Given the description of an element on the screen output the (x, y) to click on. 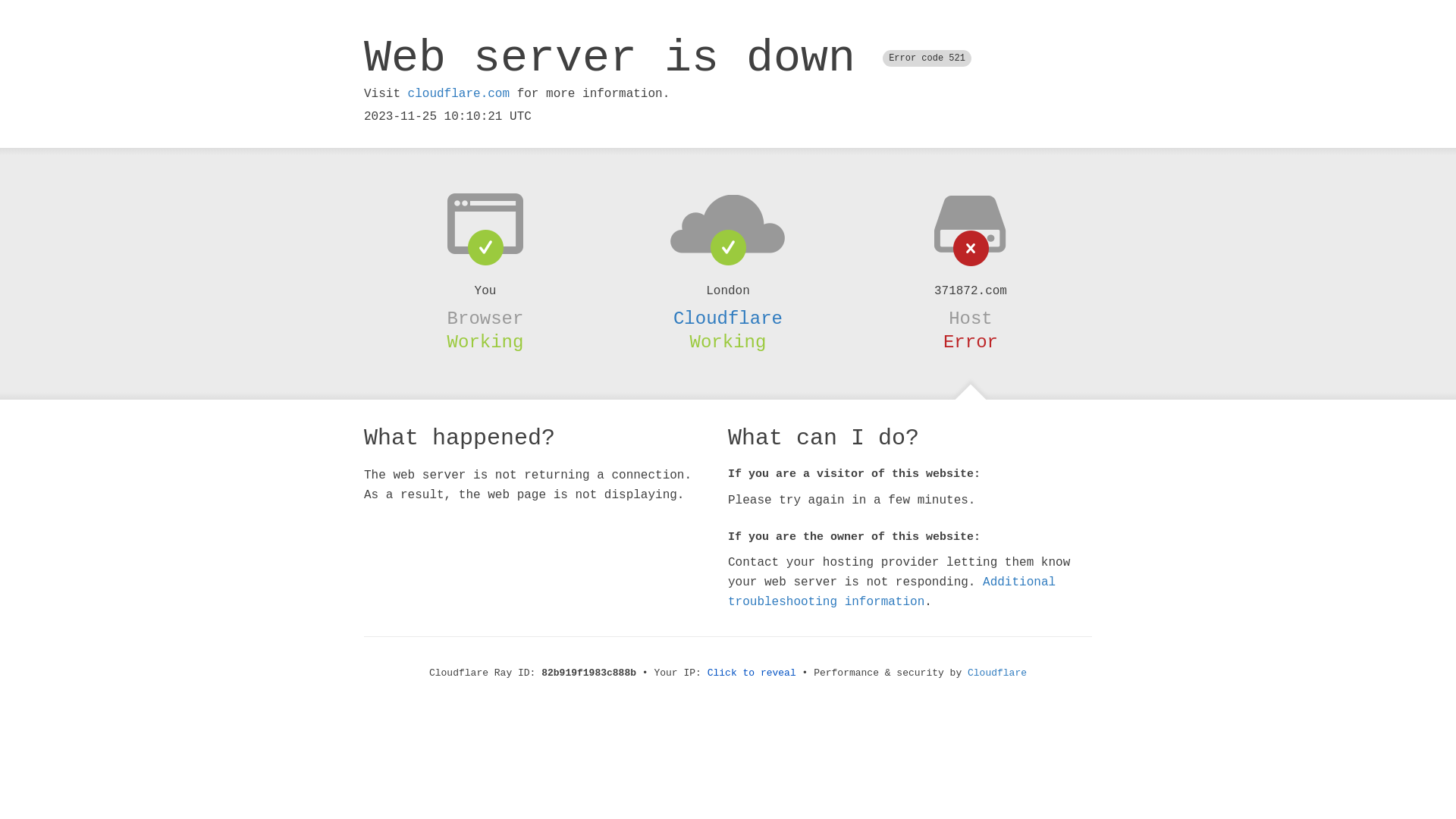
Cloudflare Element type: text (727, 318)
Click to reveal Element type: text (751, 672)
cloudflare.com Element type: text (458, 93)
Additional troubleshooting information Element type: text (891, 591)
Cloudflare Element type: text (996, 672)
